Given the description of an element on the screen output the (x, y) to click on. 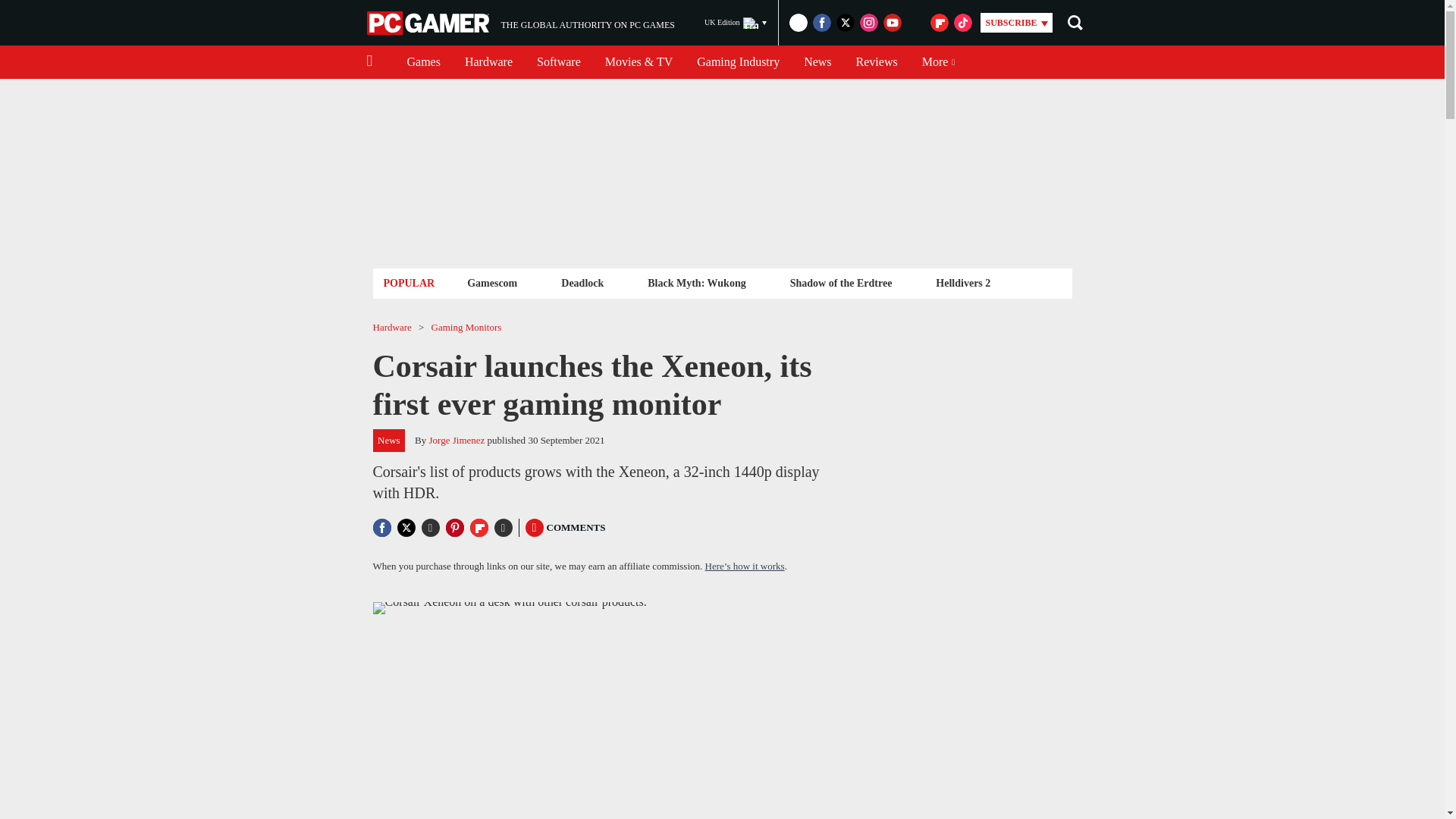
News (817, 61)
Deadlock (582, 282)
Hardware (488, 61)
Gaming Industry (738, 61)
Software (558, 61)
Reviews (877, 61)
PC Gamer (429, 22)
Gamescom (491, 282)
UK Edition (735, 22)
